Given the description of an element on the screen output the (x, y) to click on. 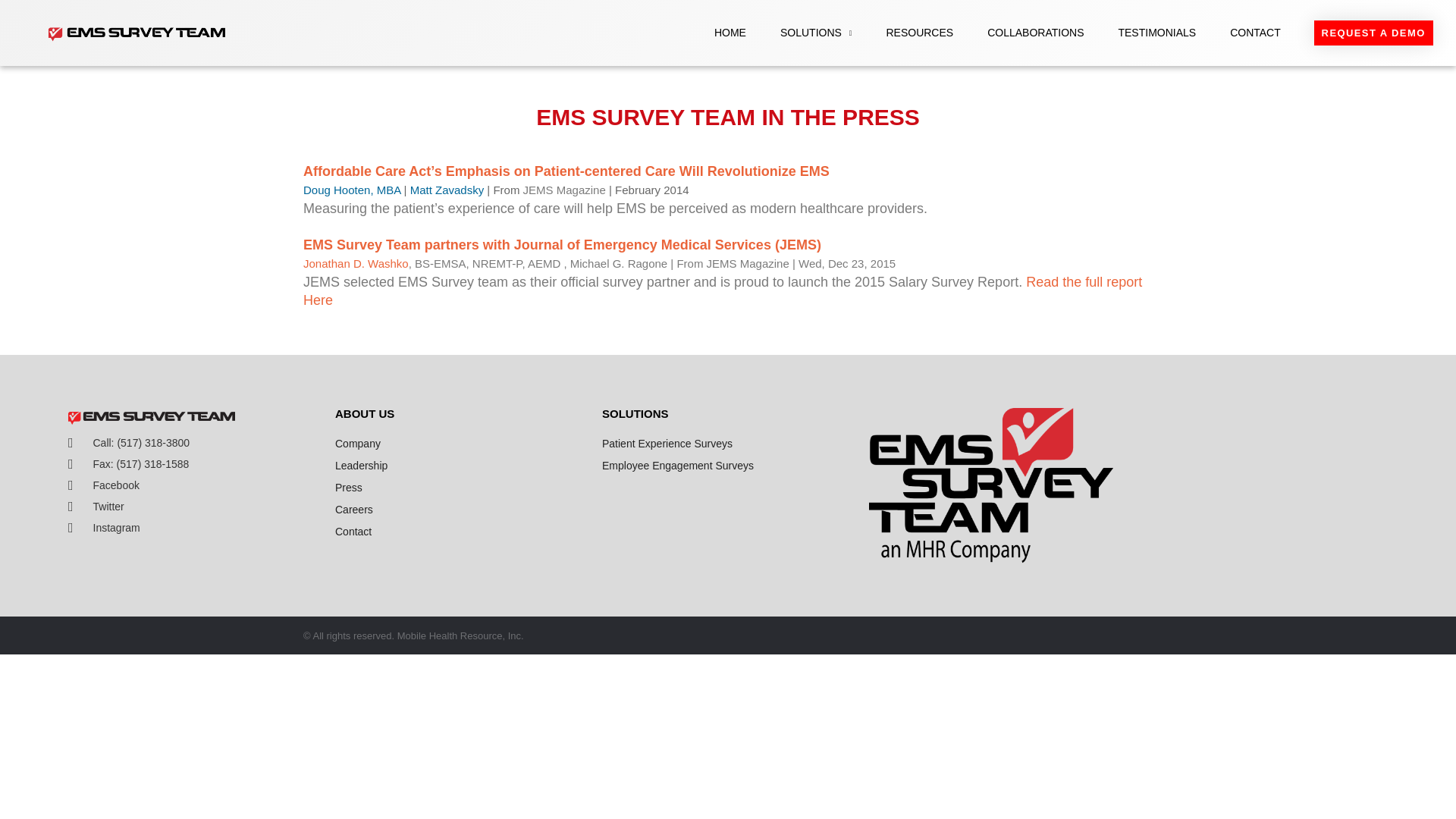
Matt Zavadsky  (448, 189)
CONTACT (1255, 32)
Press (460, 487)
Employee Engagement Surveys (727, 465)
Careers (460, 509)
Read the full report Here (721, 290)
Doug Hooten, MBA (351, 189)
Leadership (460, 465)
COLLABORATIONS (1035, 32)
Company (460, 443)
TESTIMONIALS (1156, 32)
Instagram (194, 527)
Contact (460, 531)
REQUEST A DEMO (1373, 32)
Facebook (194, 484)
